Given the description of an element on the screen output the (x, y) to click on. 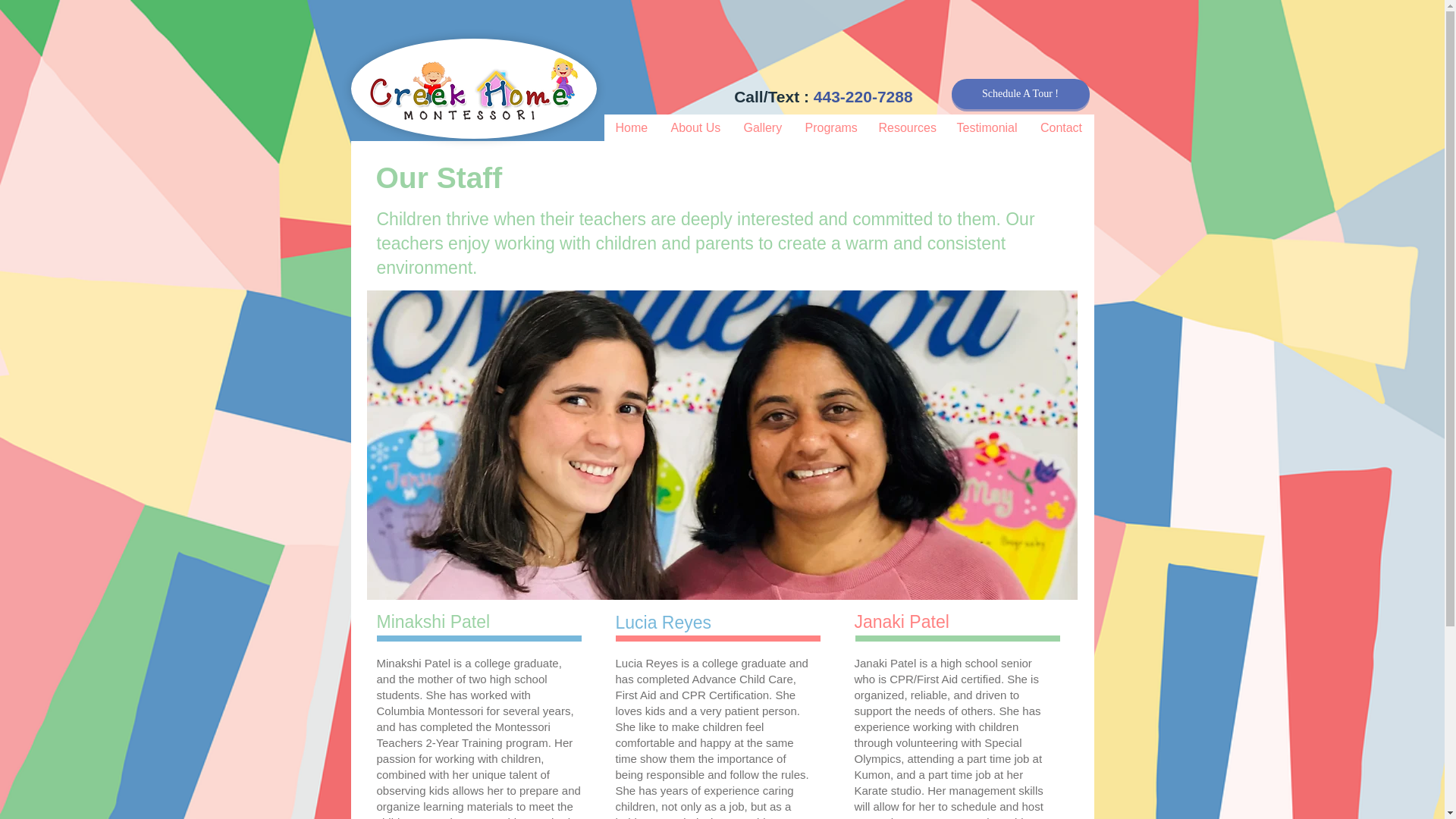
Programs (829, 127)
Gallery (761, 127)
Contact (1060, 127)
About Us (694, 127)
Resources (904, 127)
Testimonial (985, 127)
Schedule A Tour ! (1019, 93)
Home (631, 127)
